Given the description of an element on the screen output the (x, y) to click on. 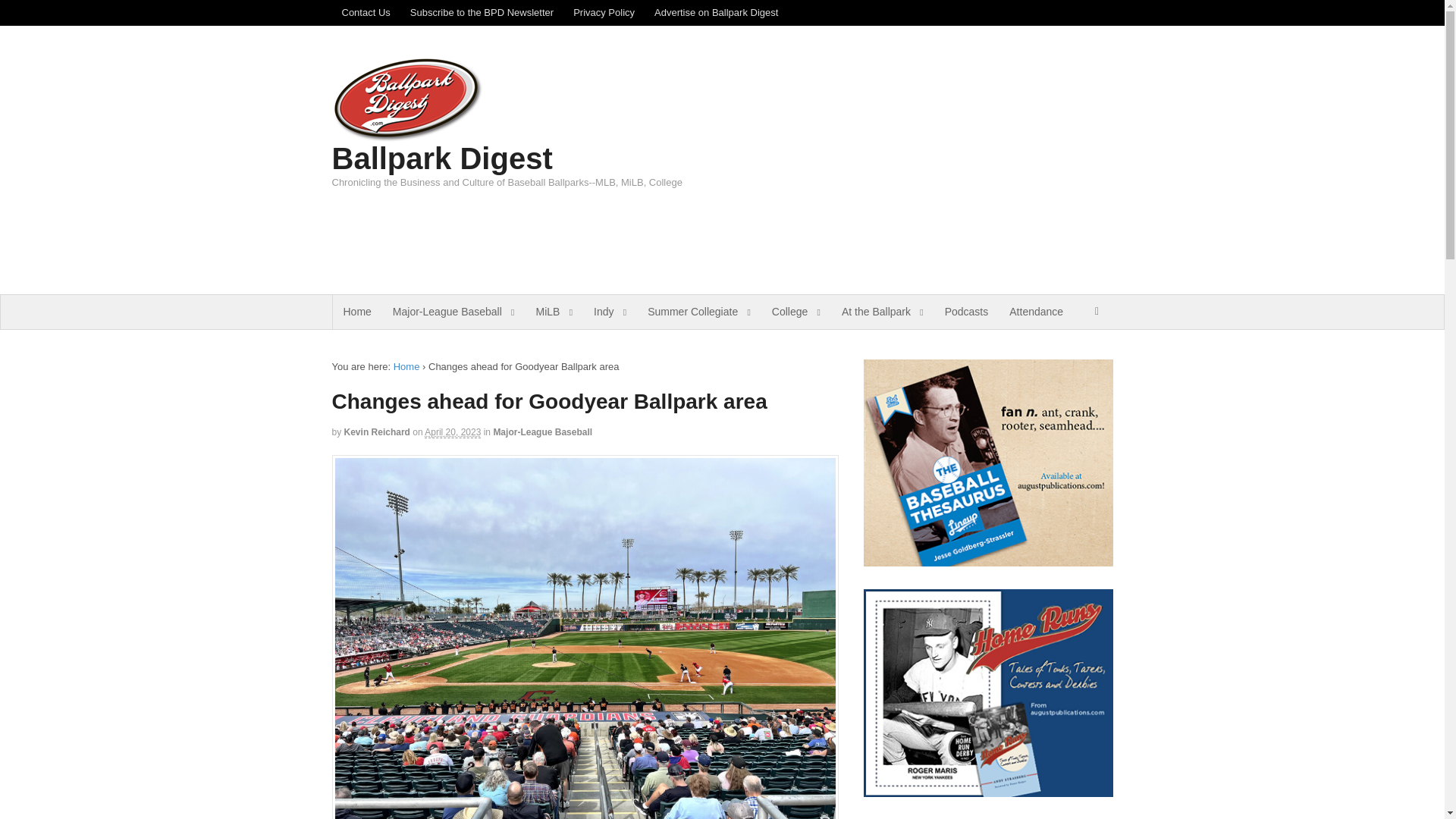
Podcasts (966, 311)
Ballpark Digest (406, 366)
Ballpark Digest (442, 158)
Advertise on Ballpark Digest (716, 12)
2023-04-20T15:20:32-0500 (452, 432)
Major-League Baseball (453, 311)
At the Ballpark (882, 311)
Privacy Policy (604, 12)
Indy (610, 311)
Home (406, 366)
Posts by Kevin Reichard (376, 431)
Home (356, 311)
Attendance (1036, 311)
MiLB (553, 311)
